Given the description of an element on the screen output the (x, y) to click on. 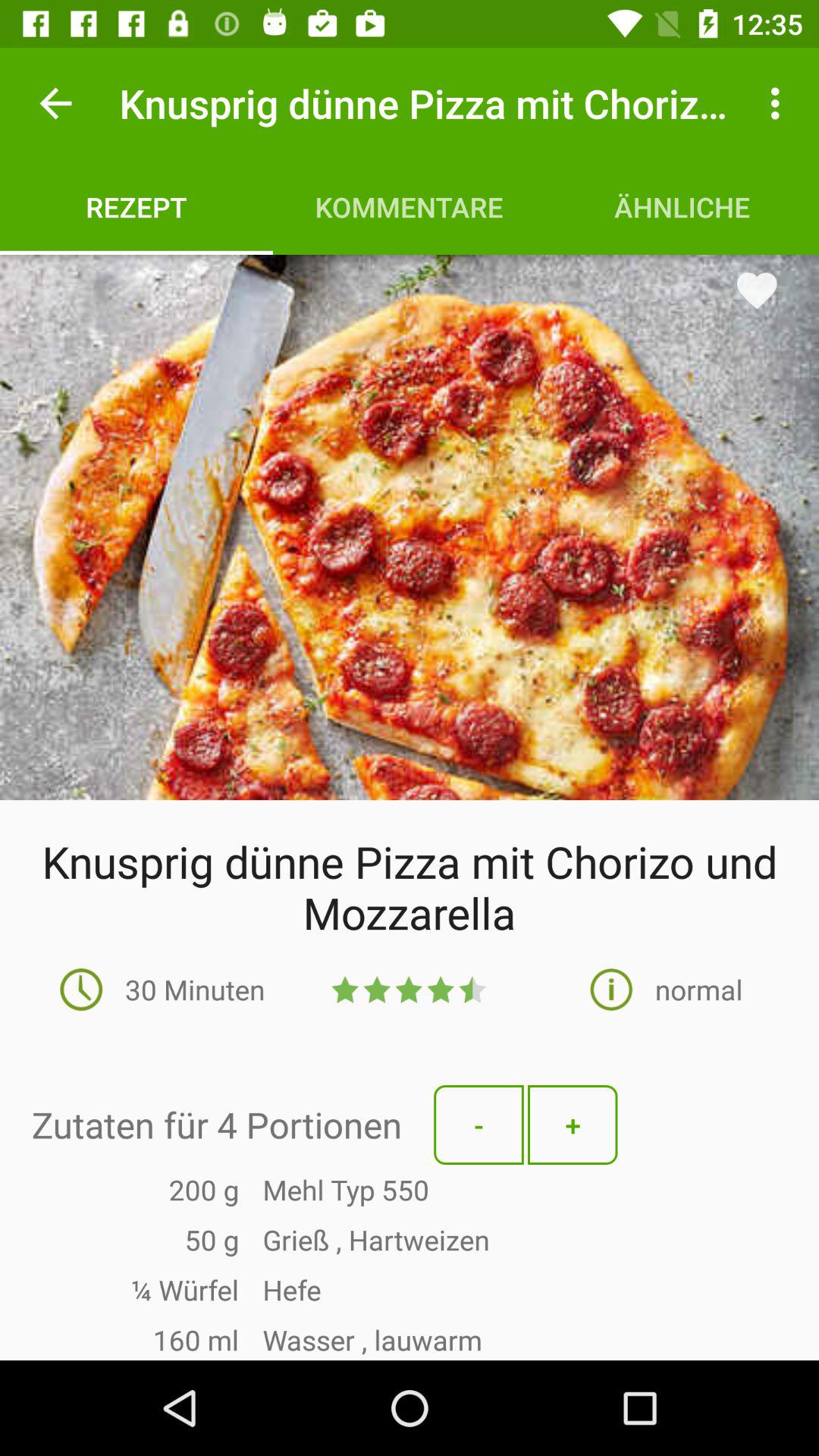
launch the + icon (572, 1124)
